Given the description of an element on the screen output the (x, y) to click on. 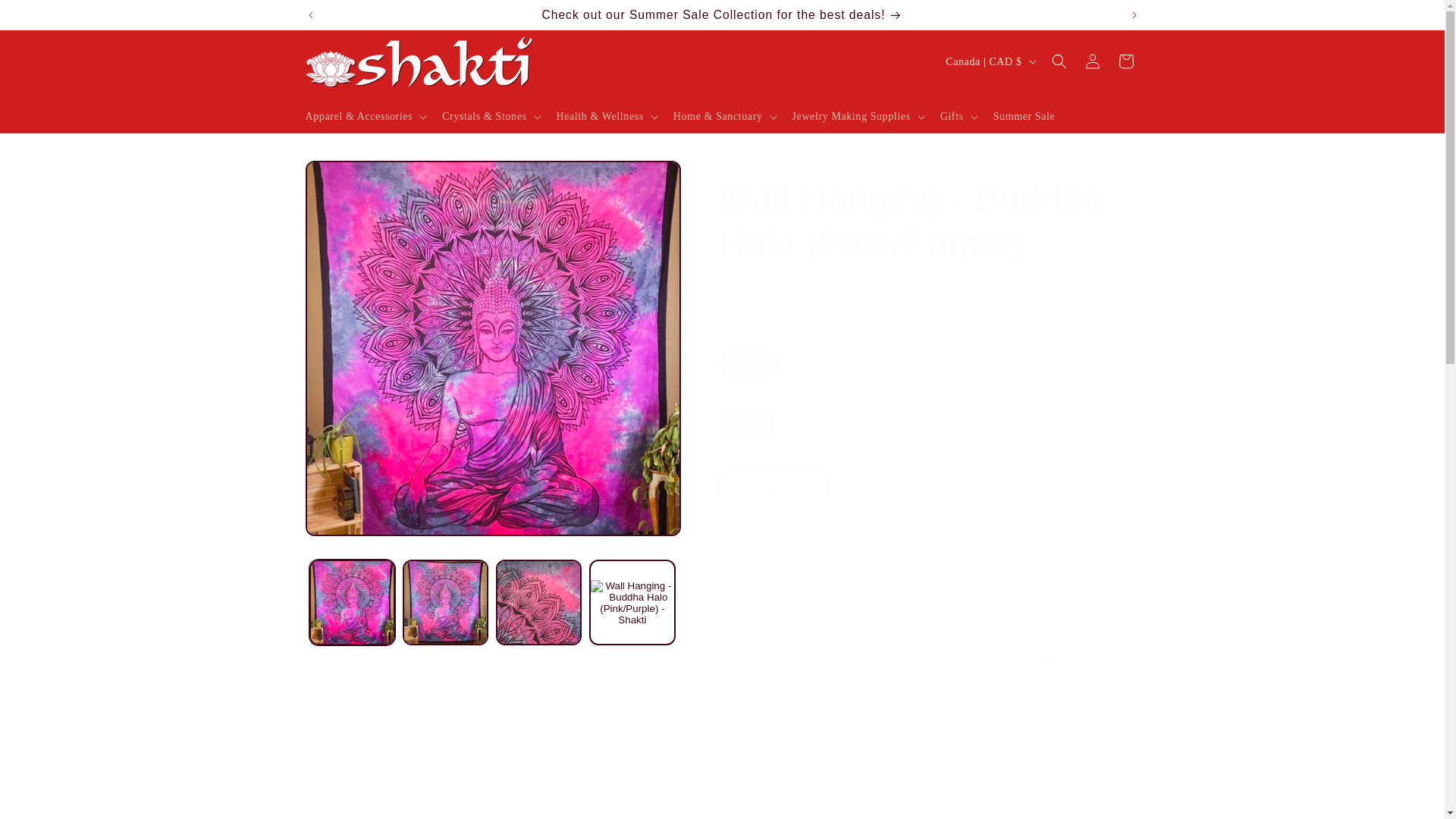
Skip to content (46, 18)
Check out our Summer Sale Collection for the best deals! (722, 14)
1 (773, 487)
